Given the description of an element on the screen output the (x, y) to click on. 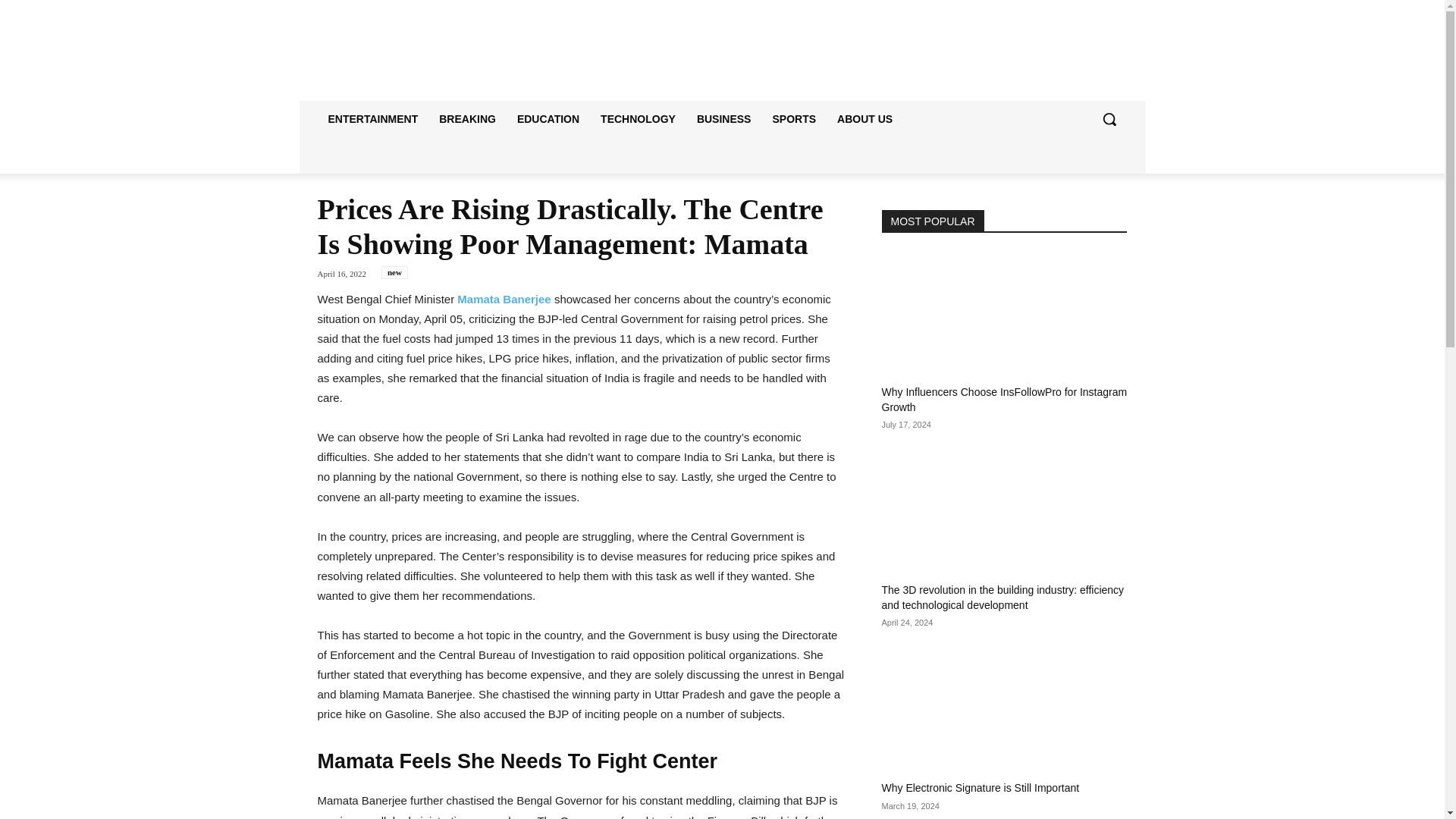
EDUCATION (547, 118)
SPORTS (794, 118)
Why Influencers Choose InsFollowPro for Instagram Growth (1003, 399)
TECHNOLOGY (637, 118)
BUSINESS (723, 118)
ENTERTAINMENT (372, 118)
ABOUT US (864, 118)
BREAKING (467, 118)
new (394, 272)
Mamata Banerjee (503, 298)
